Given the description of an element on the screen output the (x, y) to click on. 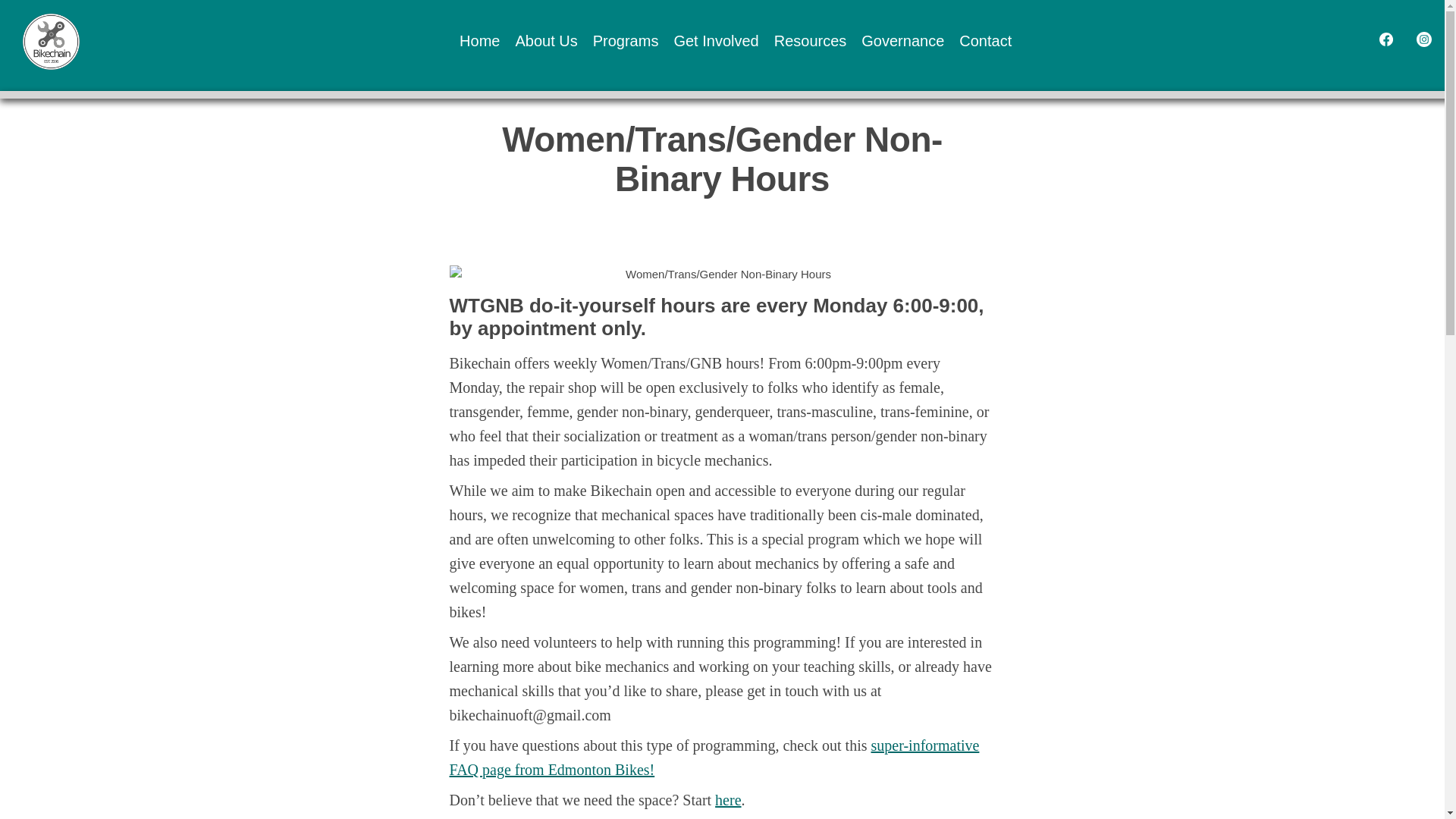
Facebook (1378, 41)
here (727, 799)
super-informative FAQ page from Edmonton Bikes! (713, 757)
Home (479, 41)
Contact (985, 41)
About Us (545, 41)
Get Involved (715, 41)
Instagram (1423, 41)
Governance (902, 41)
Resources (810, 41)
Programs (625, 41)
